Given the description of an element on the screen output the (x, y) to click on. 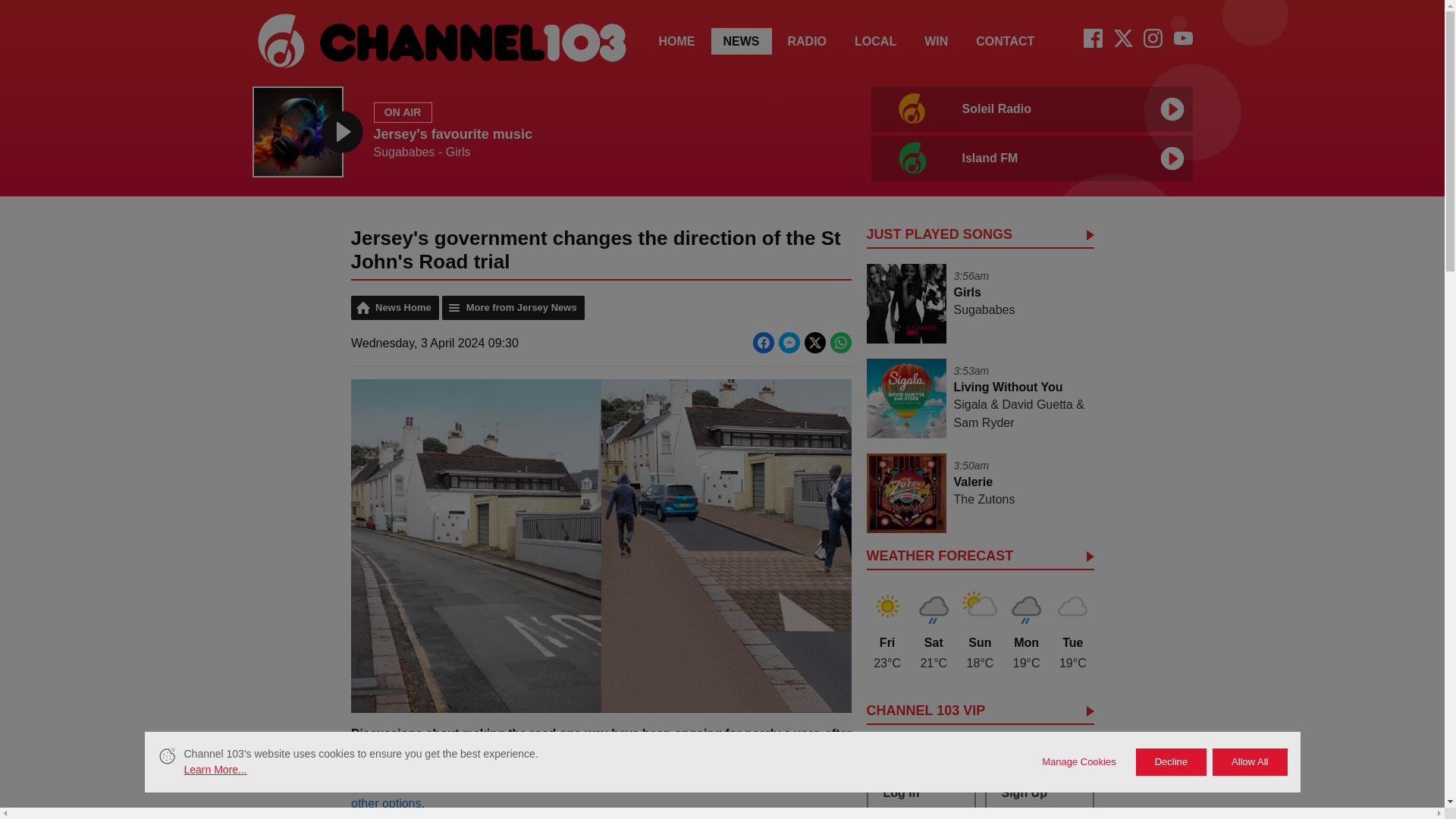
CONTACT (1027, 131)
WIN (1004, 40)
HOME (935, 40)
LOCAL (676, 40)
X (875, 40)
X (1122, 37)
NEWS (1122, 42)
RADIO (741, 40)
